Given the description of an element on the screen output the (x, y) to click on. 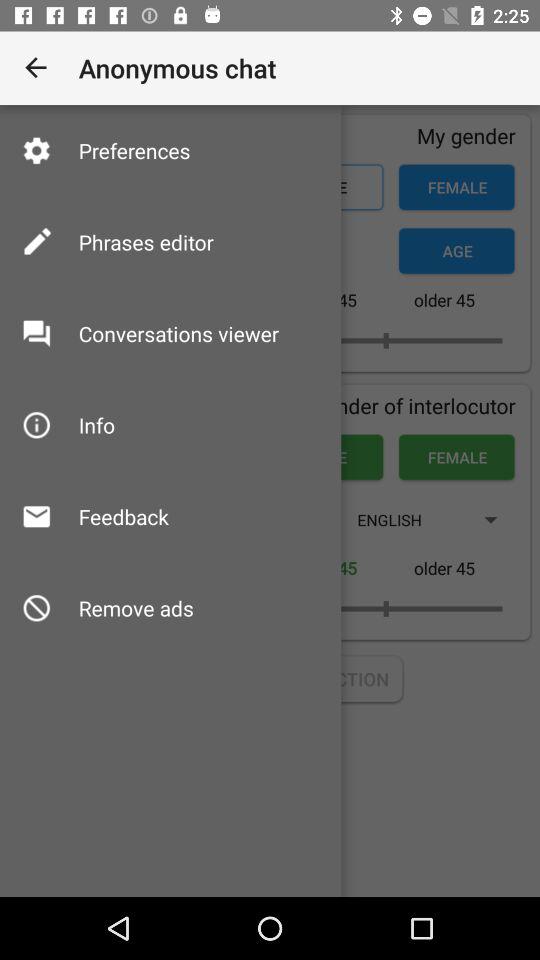
turn off app next to anonymous chat (36, 68)
